Given the description of an element on the screen output the (x, y) to click on. 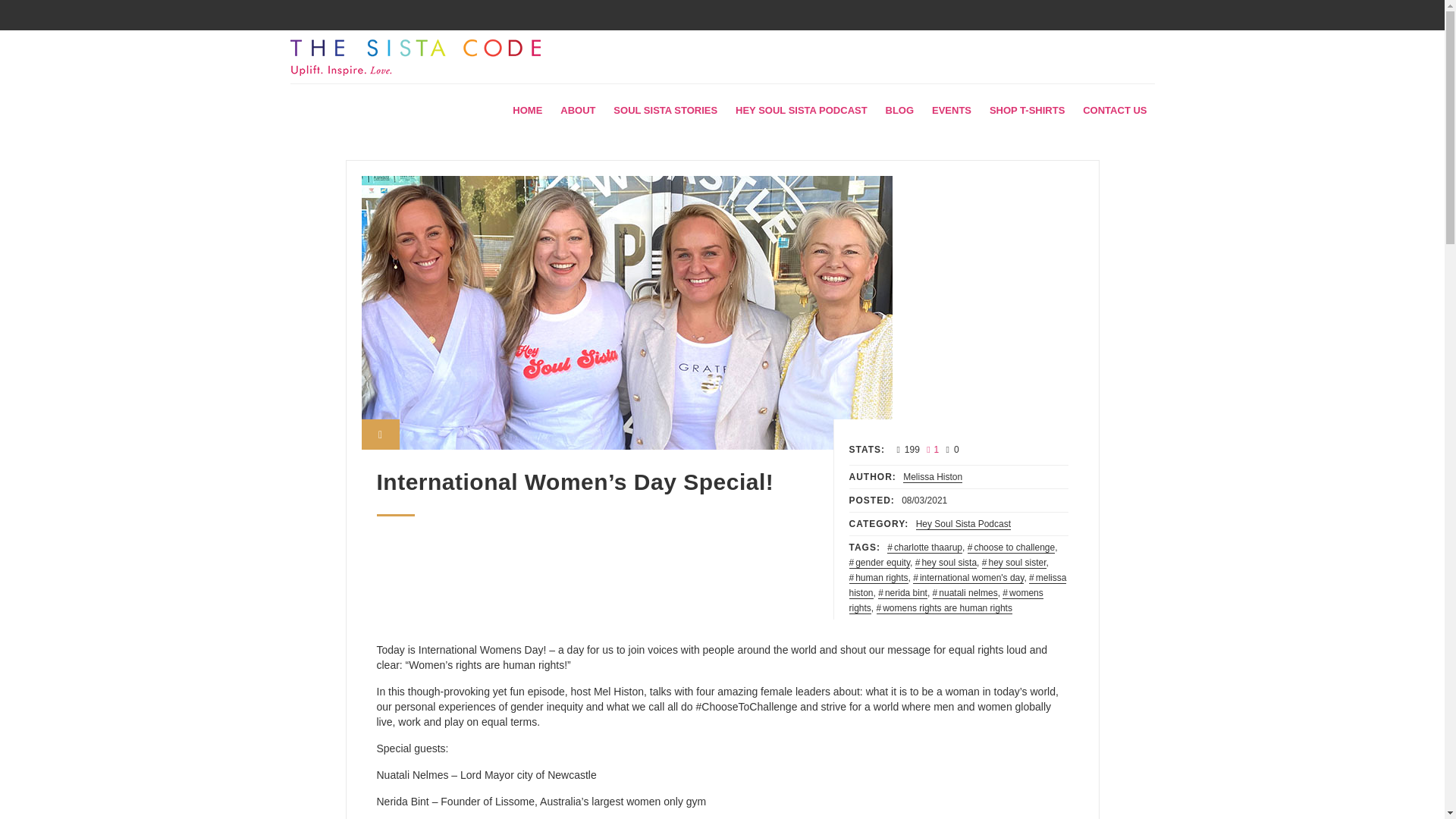
CONTACT US (1114, 110)
hey soul sister (1013, 562)
Posts by Melissa Histon (932, 477)
1 (930, 449)
melissa histon (957, 585)
Reader Mode (379, 434)
nerida bint (902, 593)
human rights (878, 577)
Hey Soul Sista Podcast (962, 523)
0 (950, 449)
Melissa Histon (932, 477)
The Sista Code (414, 57)
choose to challenge (1011, 547)
EVENTS (951, 110)
HEY SOUL SISTA PODCAST (801, 110)
